Given the description of an element on the screen output the (x, y) to click on. 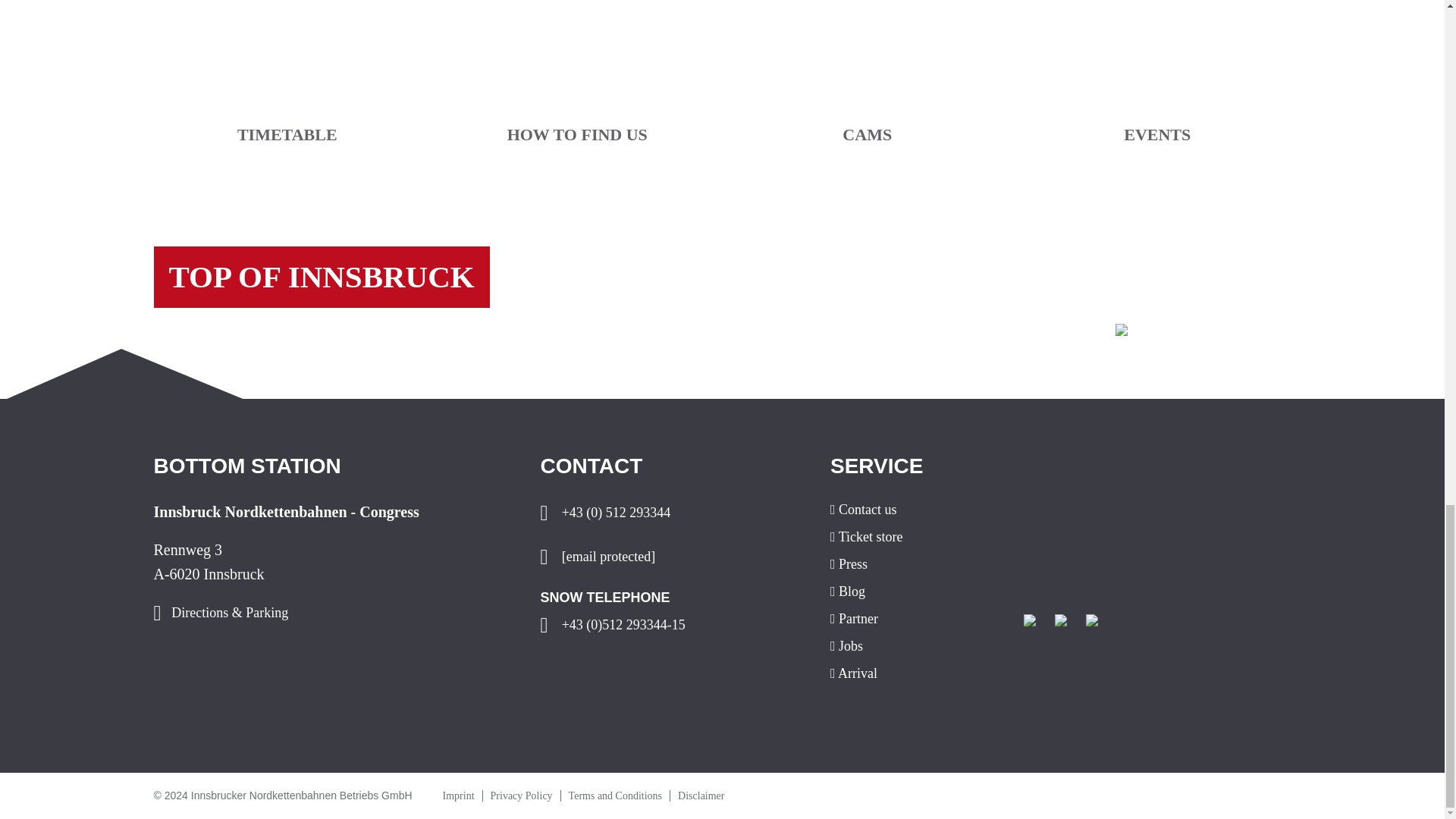
Press (915, 564)
Contact us (915, 509)
Ticket store (915, 537)
